Given the description of an element on the screen output the (x, y) to click on. 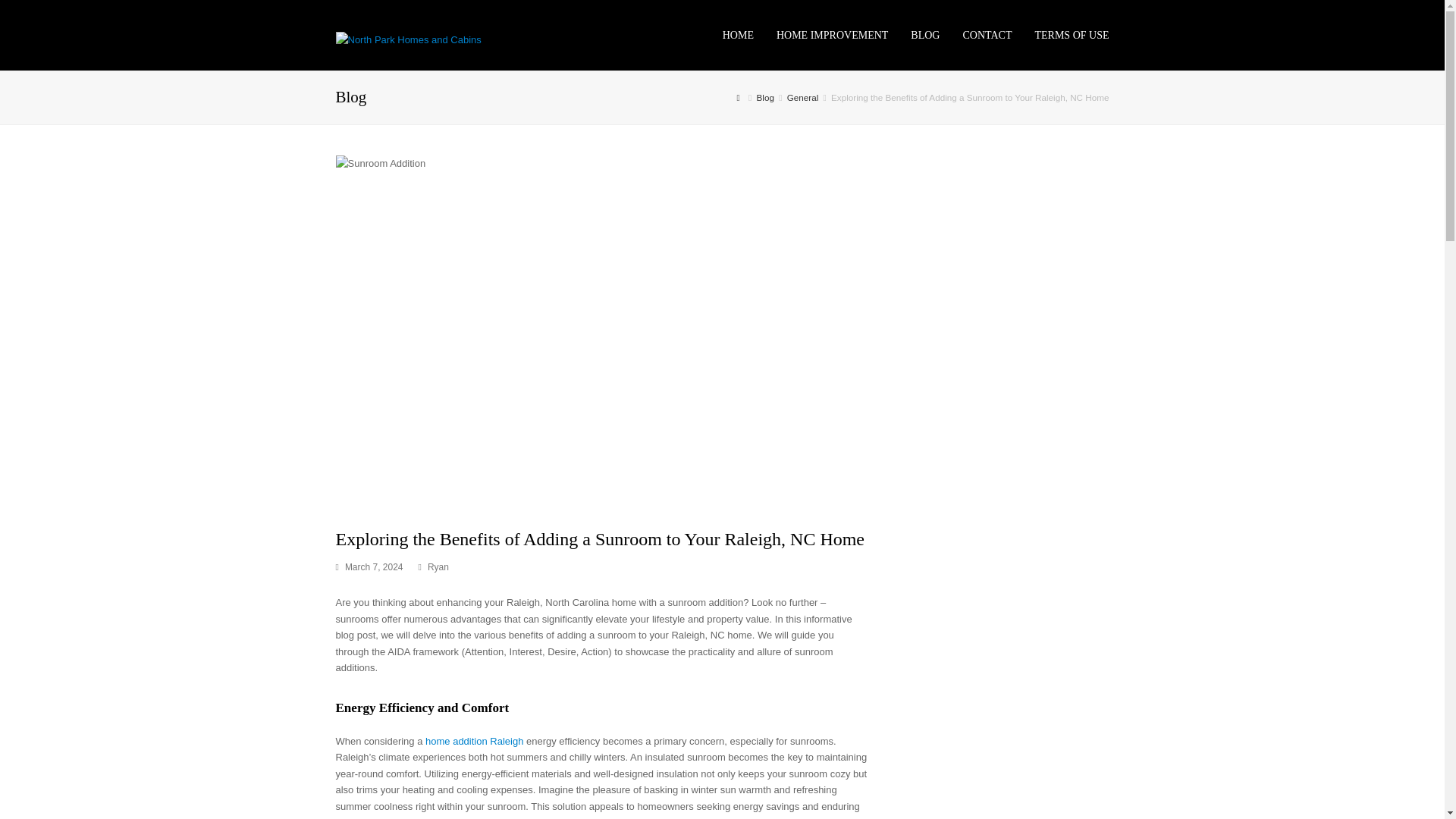
home addition Raleigh (473, 740)
General (802, 97)
Blog (765, 97)
CONTACT (986, 35)
TERMS OF USE (1071, 35)
Blog (765, 97)
Posts by Ryan (438, 566)
HOME (738, 35)
HOME IMPROVEMENT (832, 35)
BLOG (924, 35)
General (802, 97)
North Park Homes and Cabins (407, 39)
Ryan (438, 566)
